Given the description of an element on the screen output the (x, y) to click on. 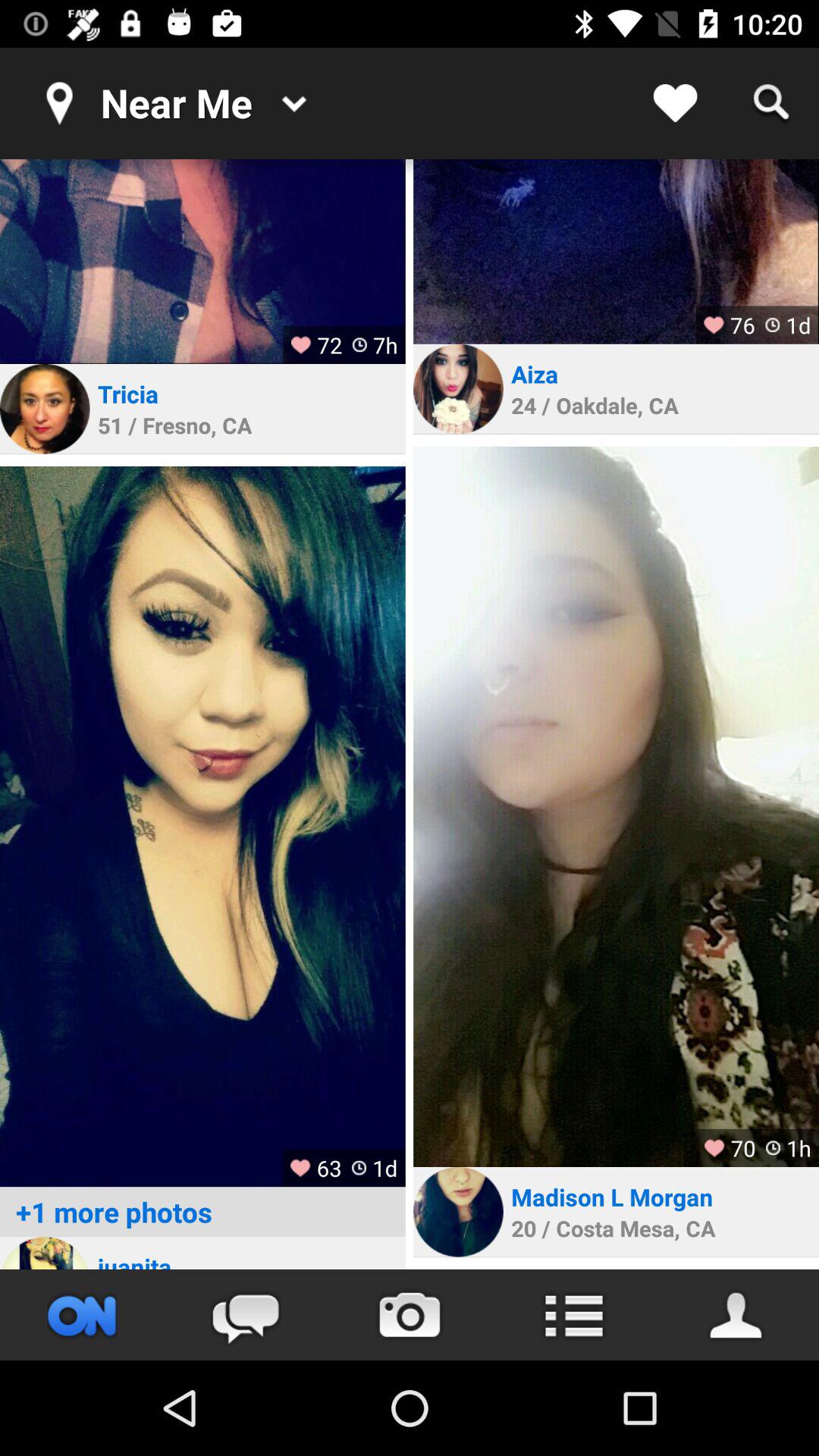
chat icon (245, 1315)
